Given the description of an element on the screen output the (x, y) to click on. 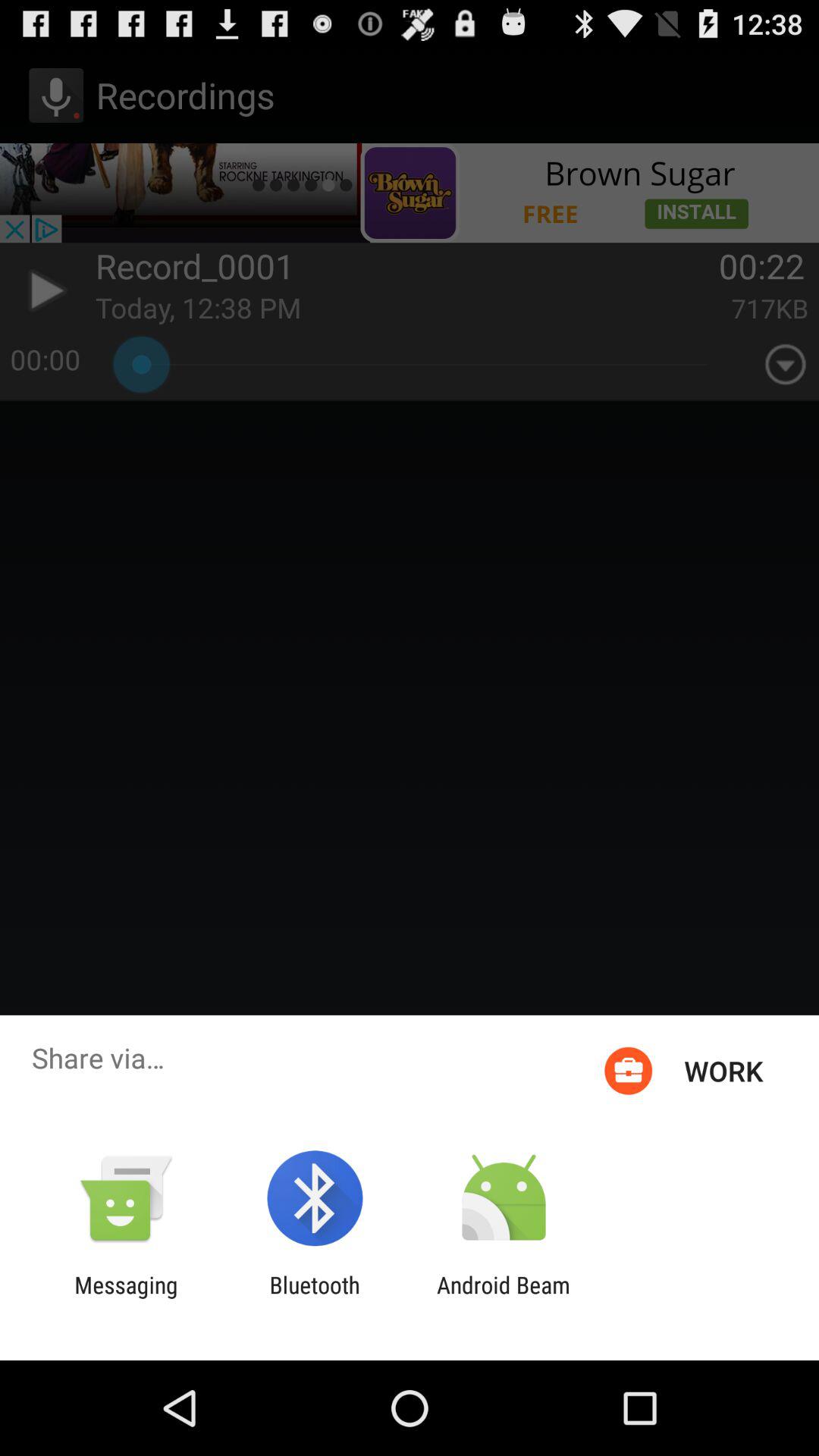
jump to the messaging app (126, 1298)
